Given the description of an element on the screen output the (x, y) to click on. 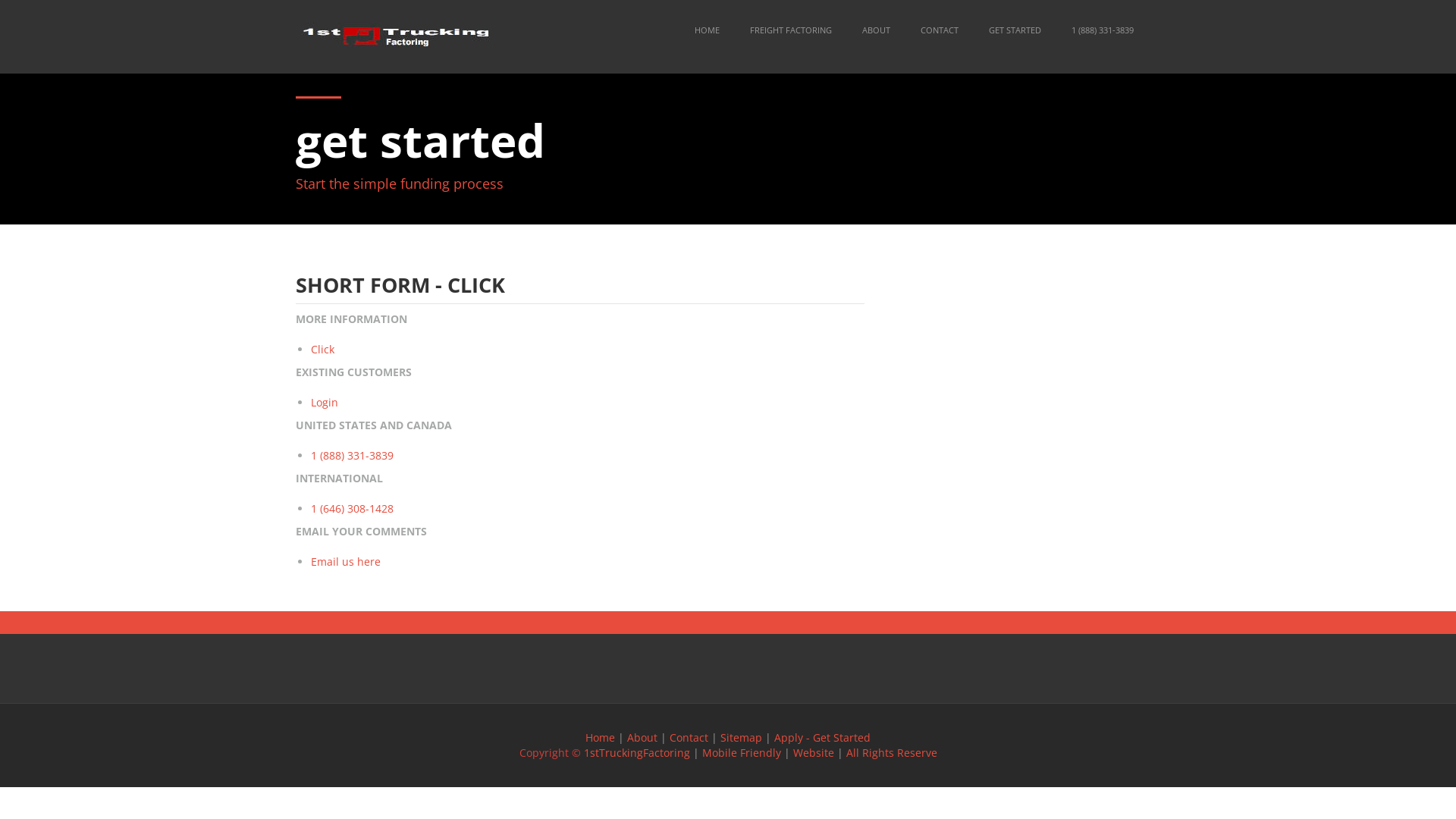
Click Element type: text (322, 349)
GET STARTED Element type: text (1014, 31)
SHORT FORM - Element type: text (371, 284)
CLICK Element type: text (476, 284)
HOME Element type: text (706, 31)
1 (646) 308-1428 Element type: text (351, 508)
Website Element type: text (813, 752)
1 (888) 331-3839 Element type: text (1102, 31)
CONTACT Element type: text (939, 31)
ABOUT Element type: text (876, 31)
Apply - Get Started Element type: text (822, 737)
Login Element type: text (324, 402)
Home Element type: text (600, 737)
Contact Element type: text (688, 737)
About Element type: text (642, 737)
Mobile Friendly Element type: text (741, 752)
FREIGHT FACTORING Element type: text (790, 31)
All Rights Reserve Element type: text (891, 752)
Email us here Element type: text (345, 561)
Start the simple funding process Element type: text (399, 183)
1 (888) 331-3839 Element type: text (351, 455)
Sitemap Element type: text (741, 737)
